Given the description of an element on the screen output the (x, y) to click on. 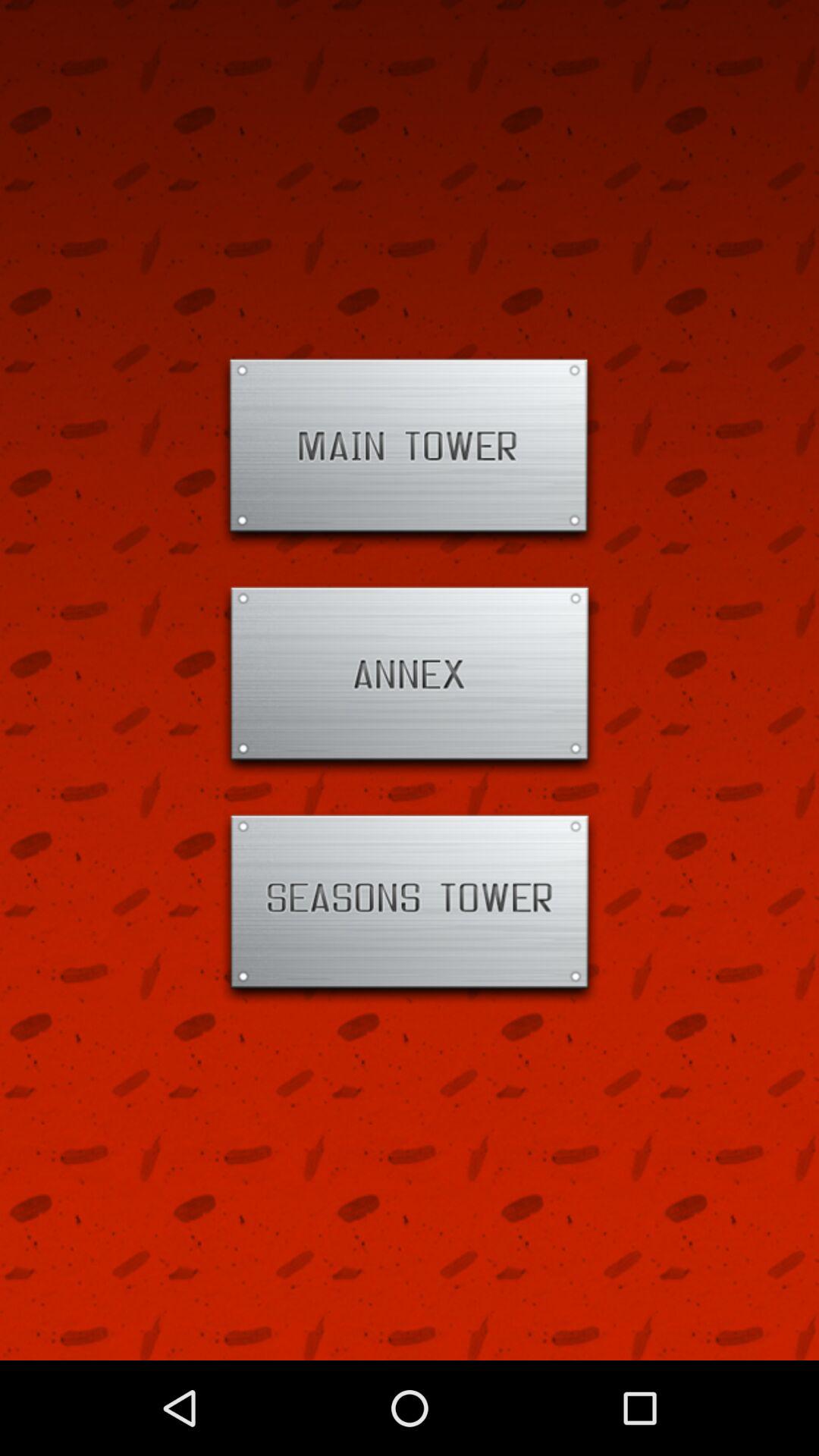
click main tower button (409, 452)
